Given the description of an element on the screen output the (x, y) to click on. 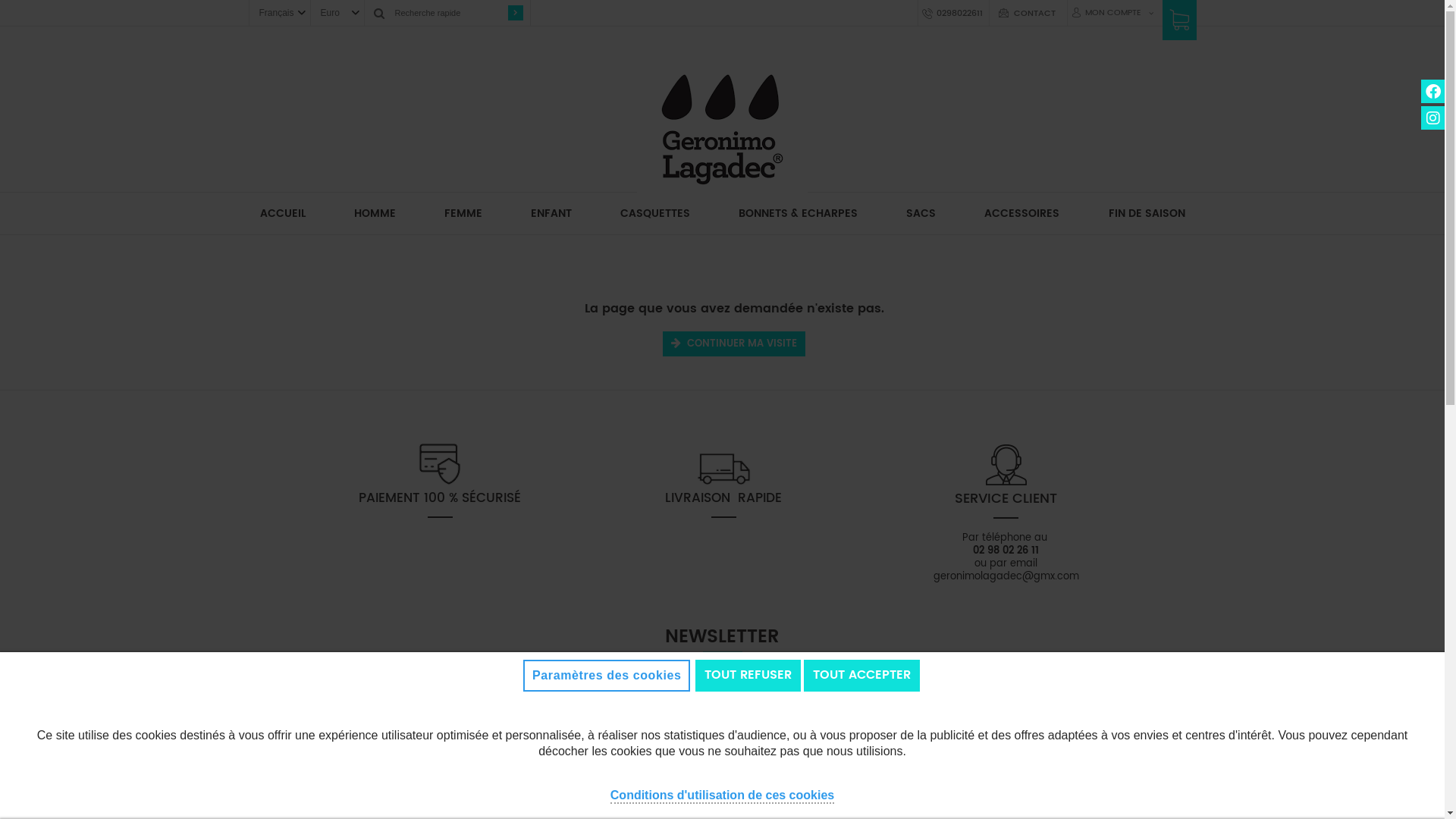
> Element type: text (515, 12)
TOUT REFUSER Element type: text (747, 674)
FIN DE SAISON Element type: text (1145, 213)
Mon panier Element type: text (1178, 25)
Conditions d'utilisation de ces cookies Element type: text (722, 794)
FEMME Element type: text (463, 213)
CONTINUER MA VISITE Element type: text (733, 343)
instagram Element type: text (1432, 117)
SACS Element type: text (920, 213)
BONNETS & ECHARPES Element type: text (798, 213)
facebook Element type: text (1432, 91)
> Element type: text (913, 737)
CASQUETTES Element type: text (654, 213)
TOUT ACCEPTER Element type: text (861, 674)
ENFANT Element type: text (551, 213)
MON COMPTE Element type: text (1110, 12)
CONTACT Element type: text (1033, 13)
ACCESSOIRES Element type: text (1021, 213)
ACCUEIL Element type: text (282, 213)
HOMME Element type: text (374, 213)
